Given the description of an element on the screen output the (x, y) to click on. 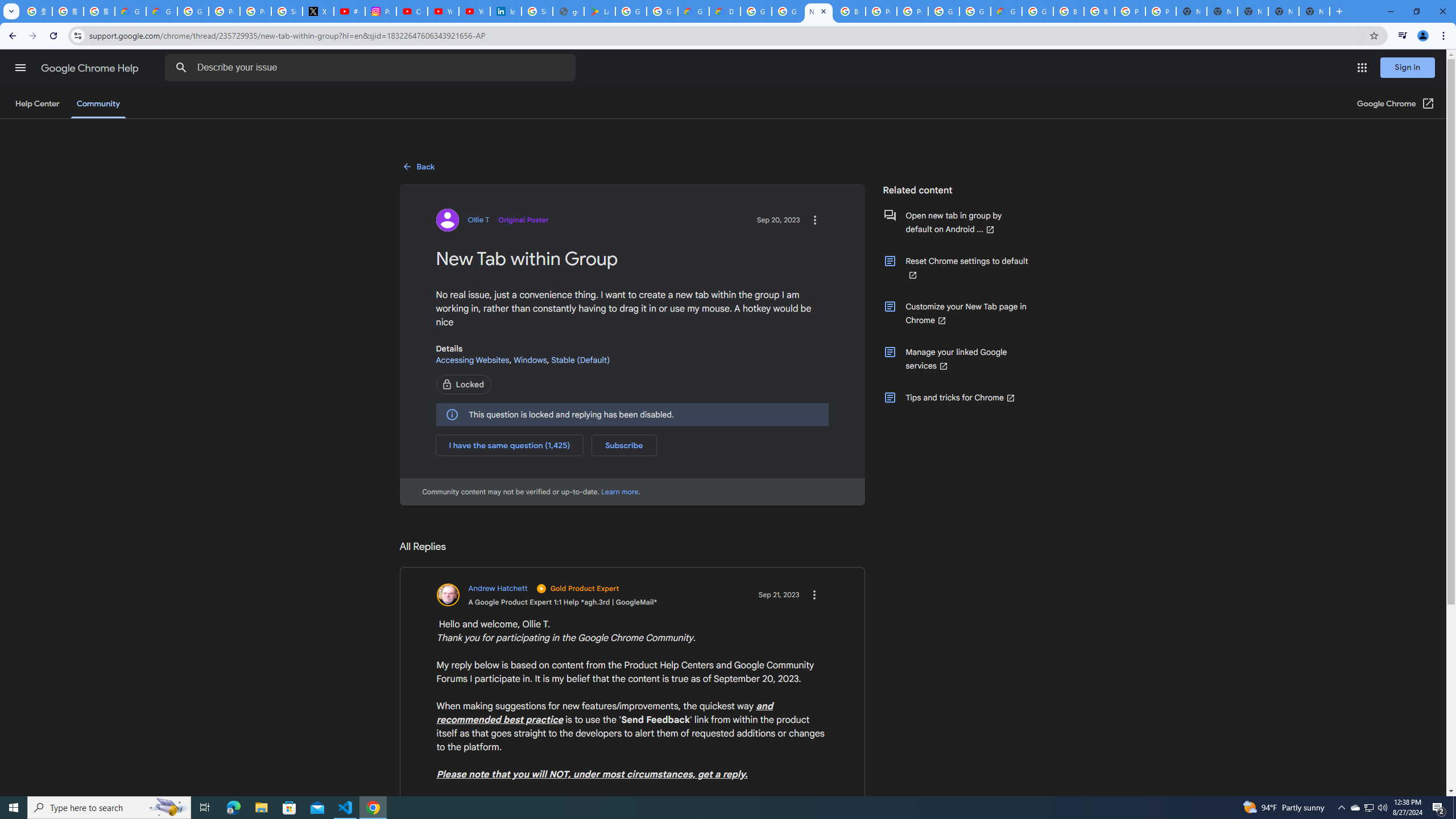
Action items for the question (814, 219)
Government | Google Cloud (693, 11)
Action items for the reply (814, 594)
Manage your linked Google services (Opens in a new window) (955, 358)
Help Center (36, 103)
Browse Chrome as a guest - Computer - Google Chrome Help (849, 11)
Google Cloud Privacy Notice (130, 11)
Google Cloud Platform (974, 11)
Community (97, 103)
Describe your issue (371, 67)
